Given the description of an element on the screen output the (x, y) to click on. 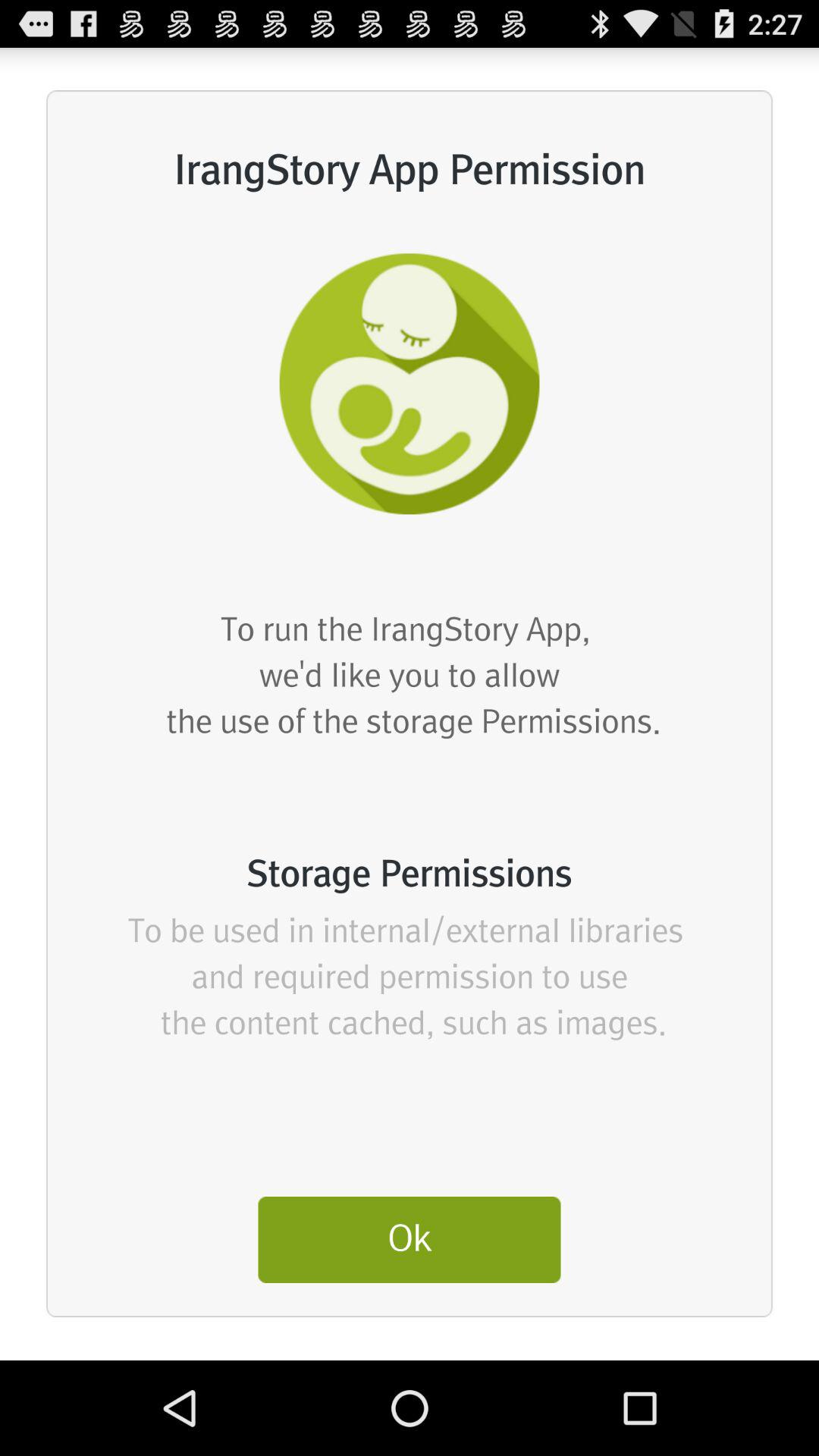
tap the ok (409, 1239)
